Given the description of an element on the screen output the (x, y) to click on. 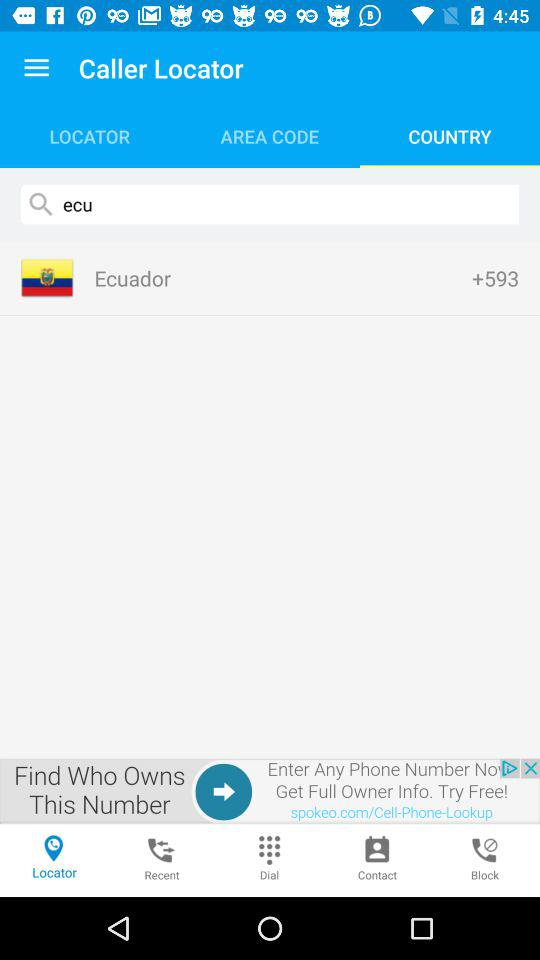
click advertisement (270, 791)
